Given the description of an element on the screen output the (x, y) to click on. 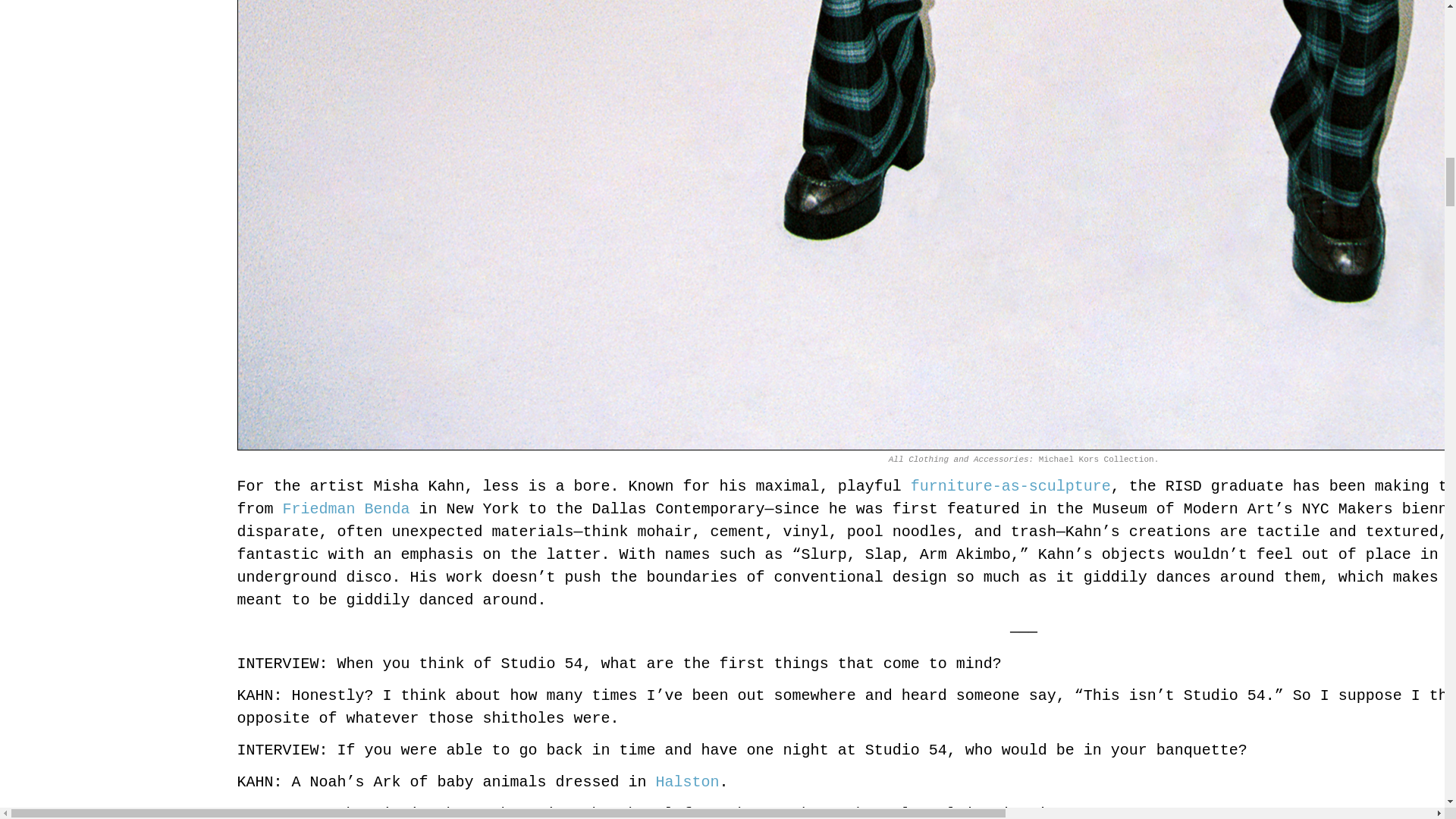
furniture-as-sculpture (1010, 486)
Halston (687, 782)
Friedman Benda (346, 508)
